Given the description of an element on the screen output the (x, y) to click on. 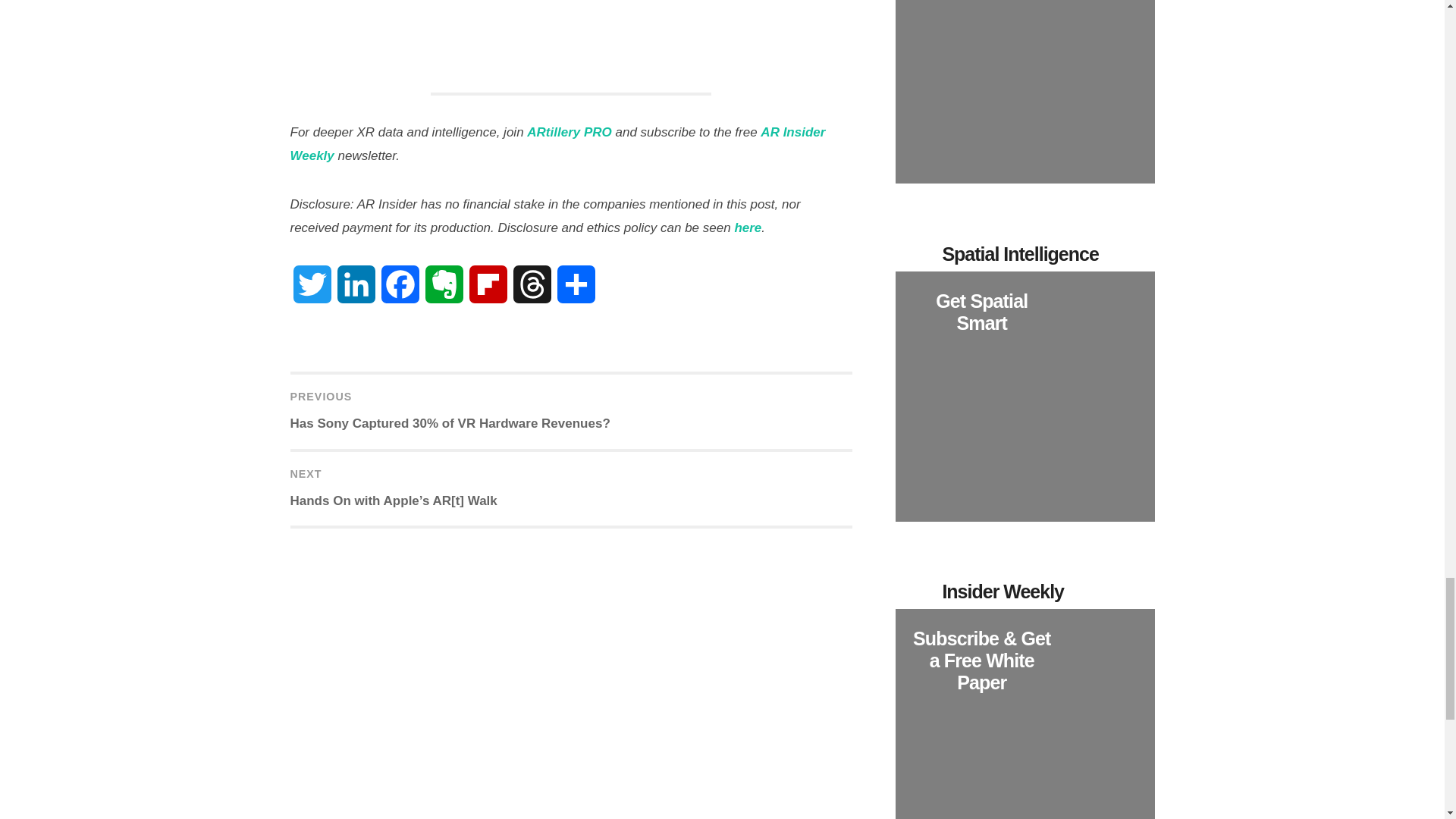
ARtillery PRO (569, 132)
here (747, 227)
AR Insider Weekly (557, 143)
